Given the description of an element on the screen output the (x, y) to click on. 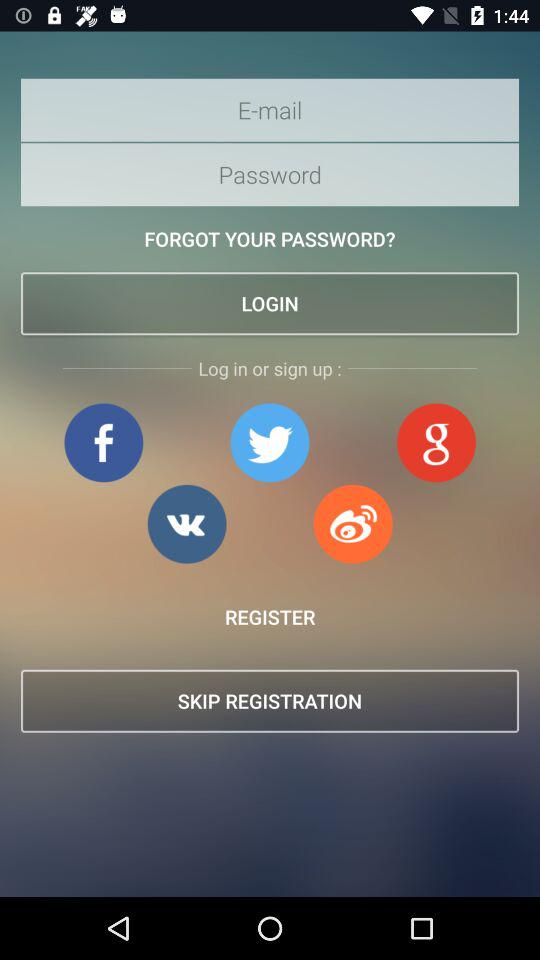
google search (436, 442)
